Given the description of an element on the screen output the (x, y) to click on. 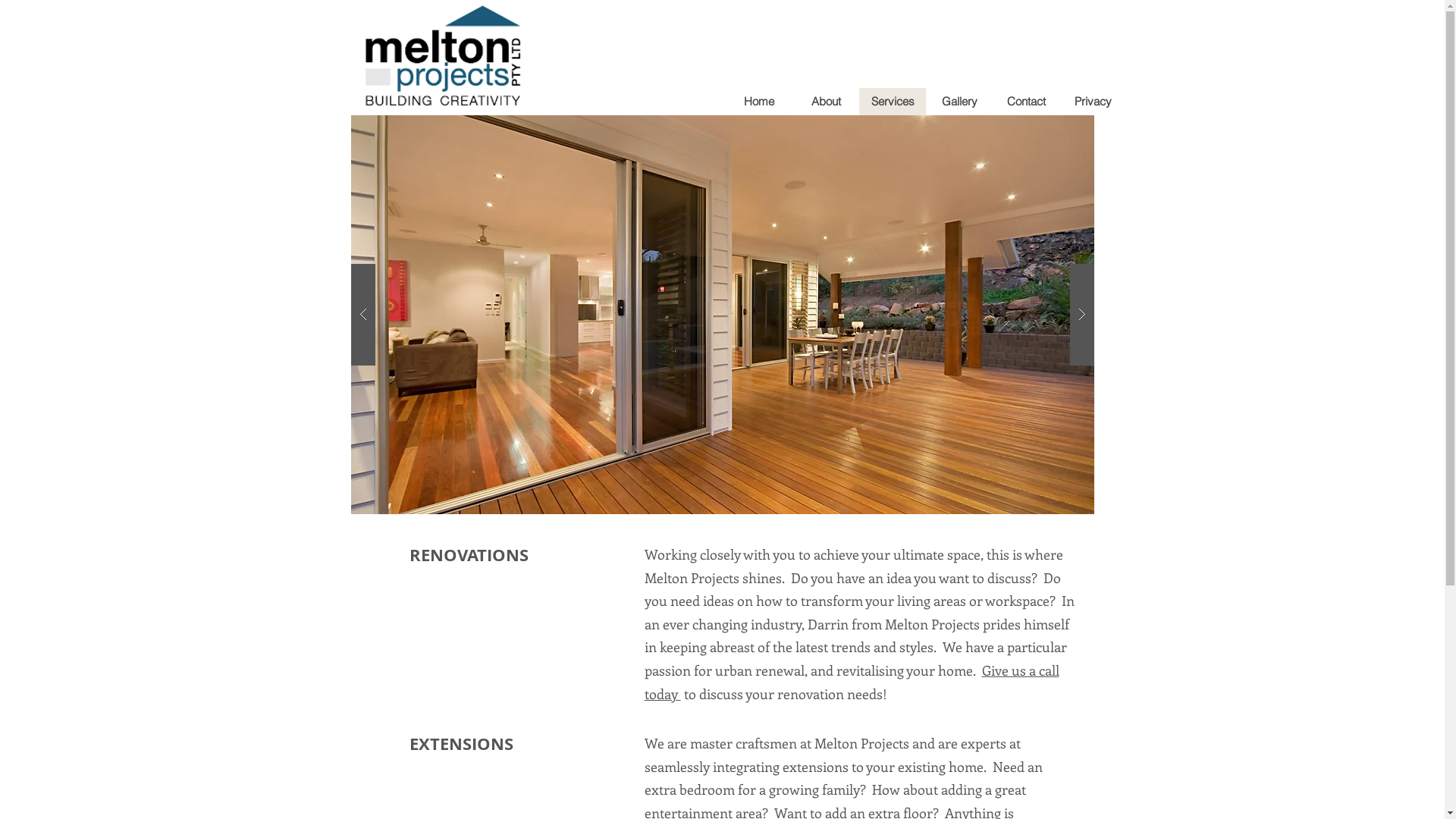
Gallery Element type: text (958, 101)
About Element type: text (824, 101)
Contact Element type: text (1024, 101)
Home Element type: text (757, 101)
Services Element type: text (891, 101)
Give us a call today Element type: text (851, 681)
Privacy Element type: text (1091, 101)
